Given the description of an element on the screen output the (x, y) to click on. 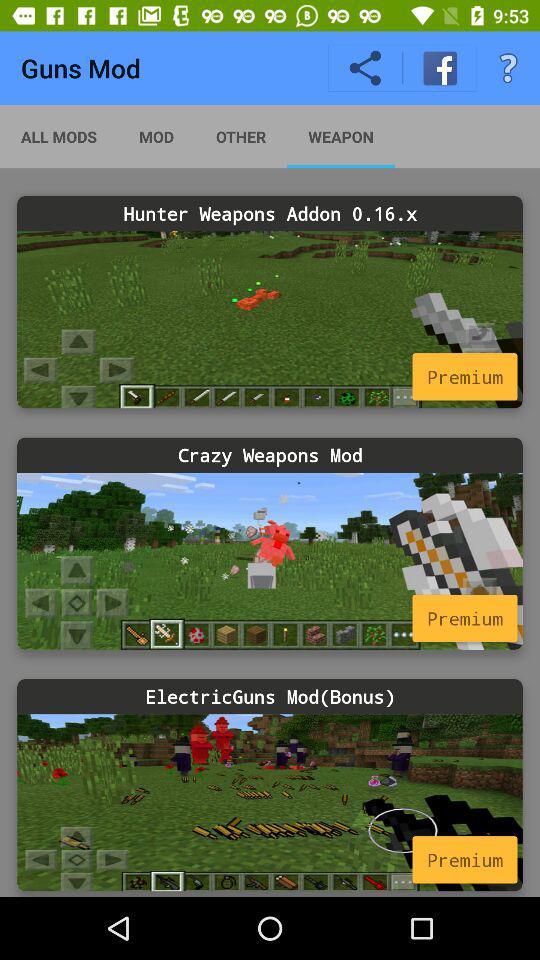
select mod (269, 560)
